Given the description of an element on the screen output the (x, y) to click on. 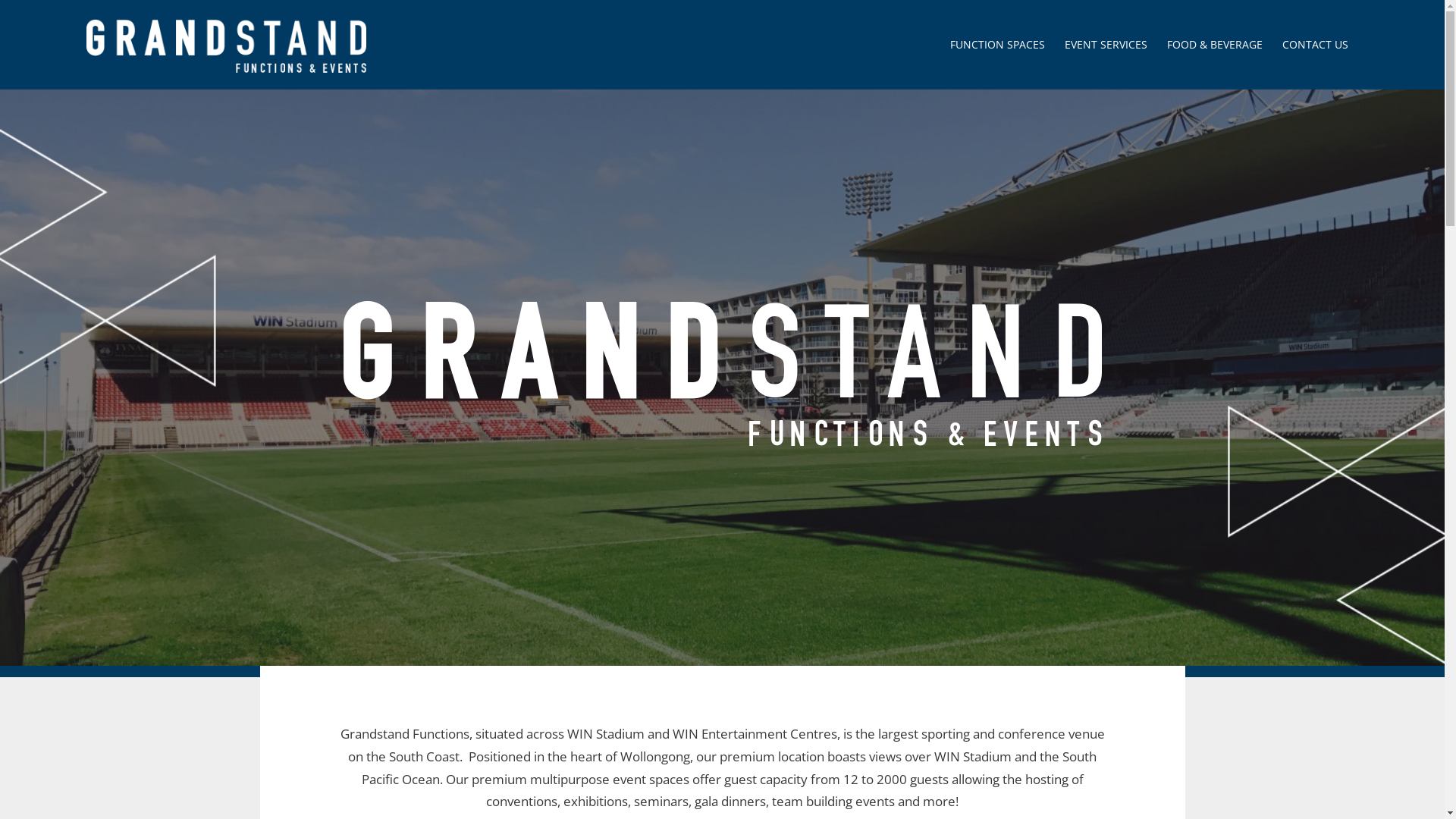
CONTACT US Element type: text (1315, 44)
EVENT SERVICES Element type: text (1105, 44)
Grandstand-01 Element type: hover (722, 376)
FUNCTION SPACES Element type: text (997, 44)
FOOD & BEVERAGE Element type: text (1214, 44)
